Given the description of an element on the screen output the (x, y) to click on. 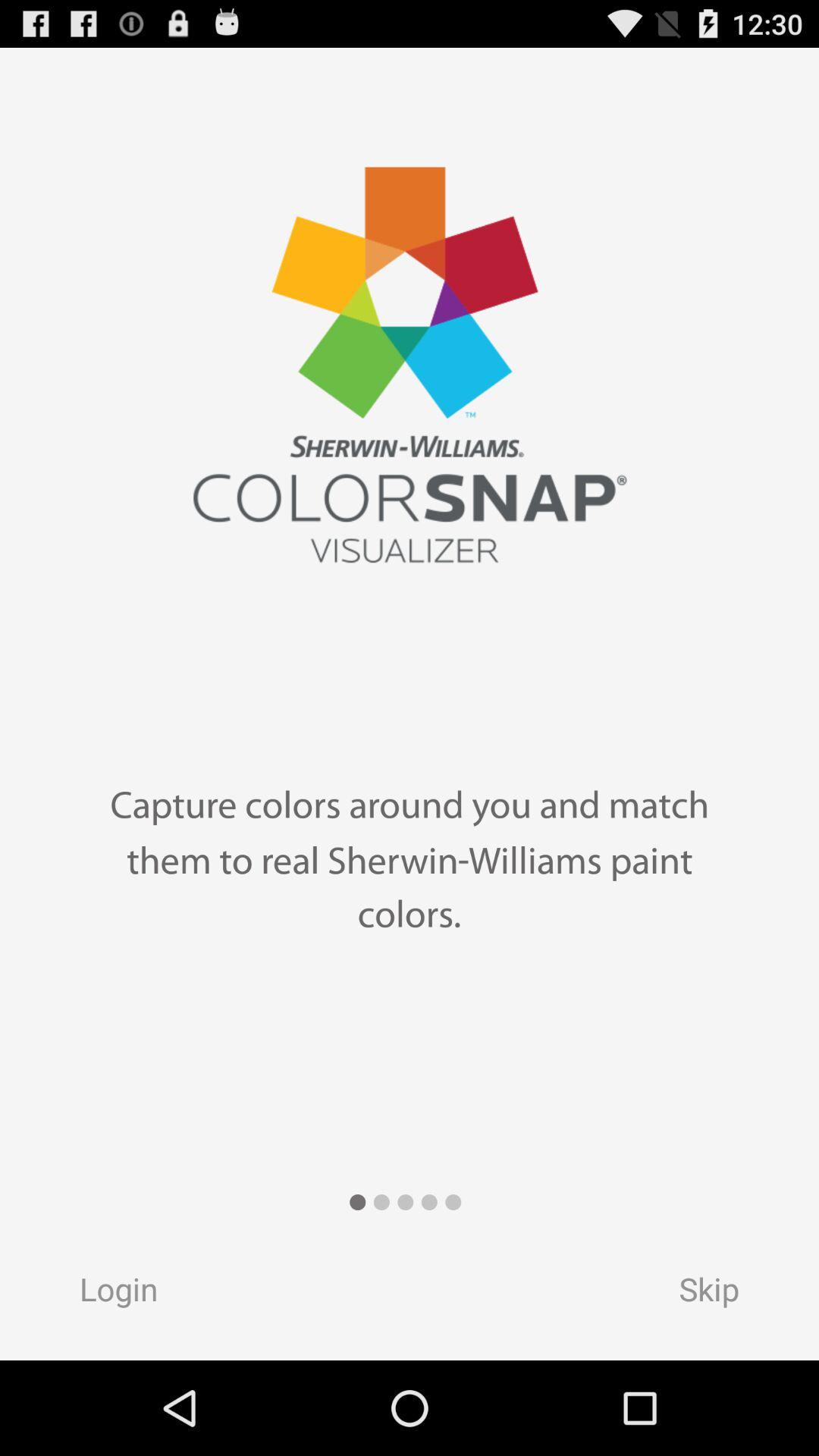
flip to the login (104, 1293)
